Given the description of an element on the screen output the (x, y) to click on. 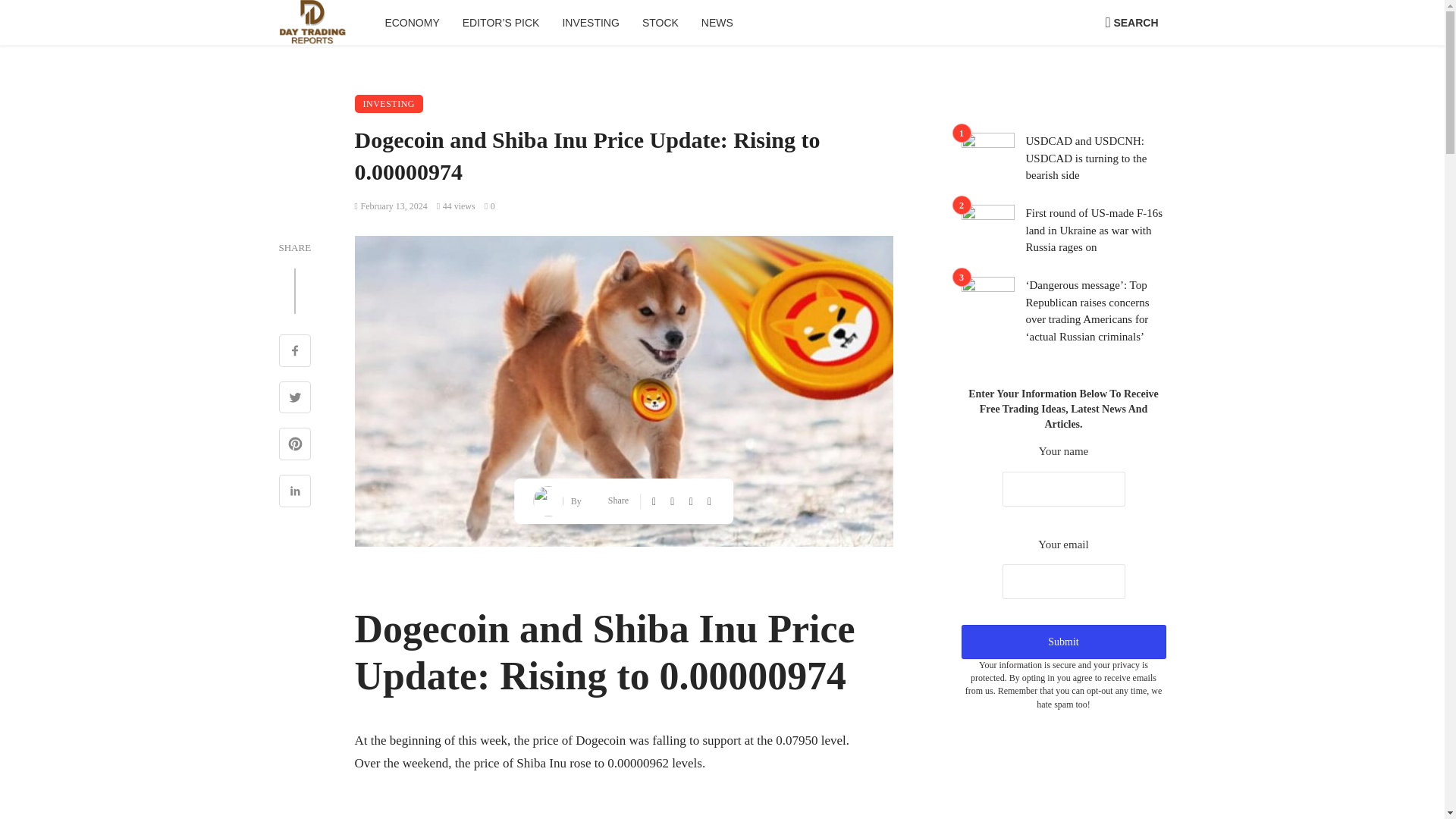
Share on Facebook (295, 352)
Share on Linkedin (295, 493)
INVESTING (590, 22)
INVESTING (389, 104)
ECONOMY (410, 22)
NEWS (717, 22)
Submit (1063, 641)
February 13, 2024 at 11:59 am (391, 205)
Share on Pinterest (295, 445)
0 (489, 205)
